Given the description of an element on the screen output the (x, y) to click on. 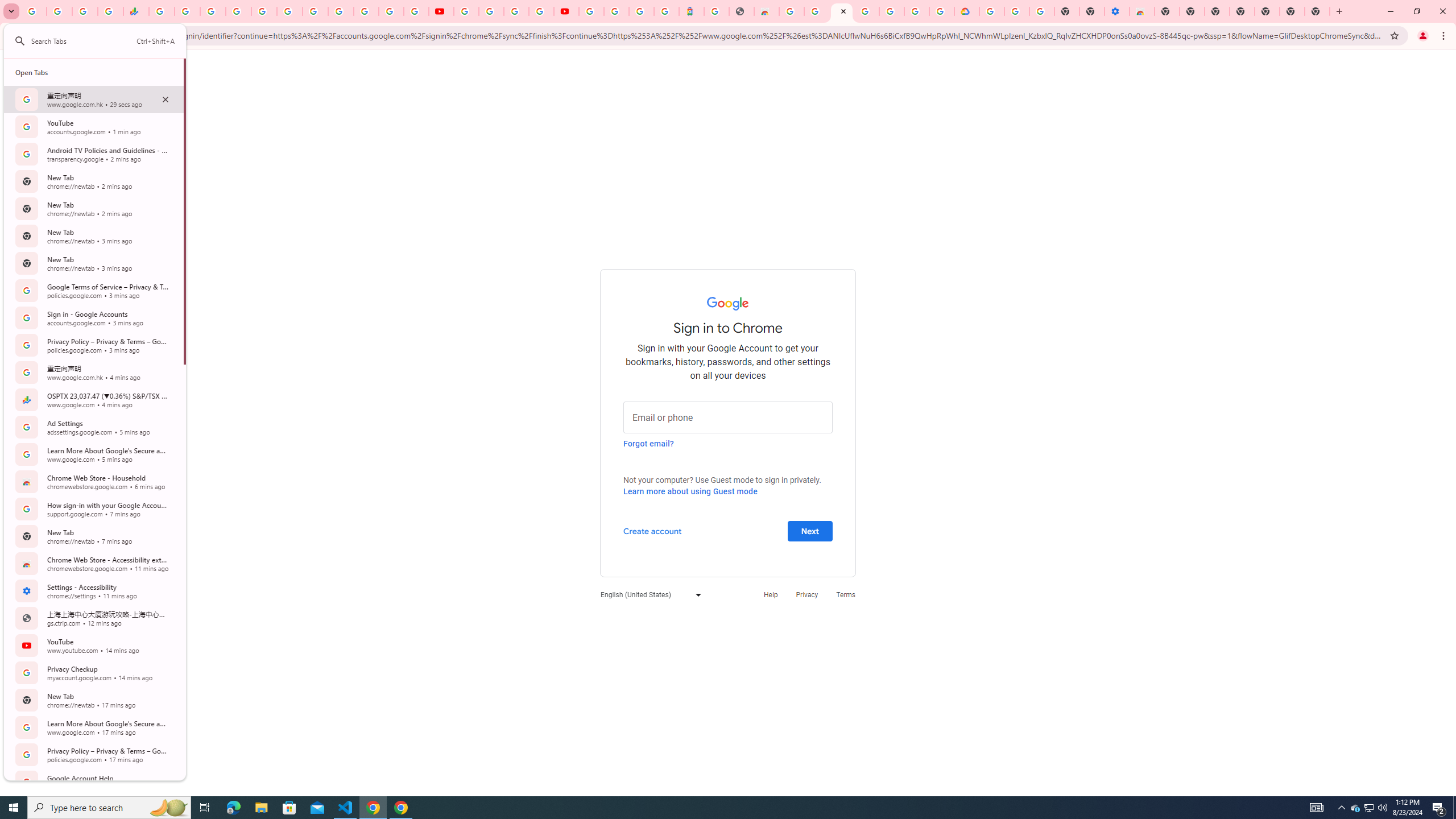
New Tab (1166, 11)
Turn cookies on or off - Computer - Google Account Help (1042, 11)
Chrome Web Store - Accessibility extensions (1141, 11)
Sign in - Google Accounts (365, 11)
Create account (651, 530)
YouTube accounts.google.com 1 min ago Open Tab (93, 126)
Search Tabs Ctrl+Shift+A Found 60 Tabs (102, 40)
